Given the description of an element on the screen output the (x, y) to click on. 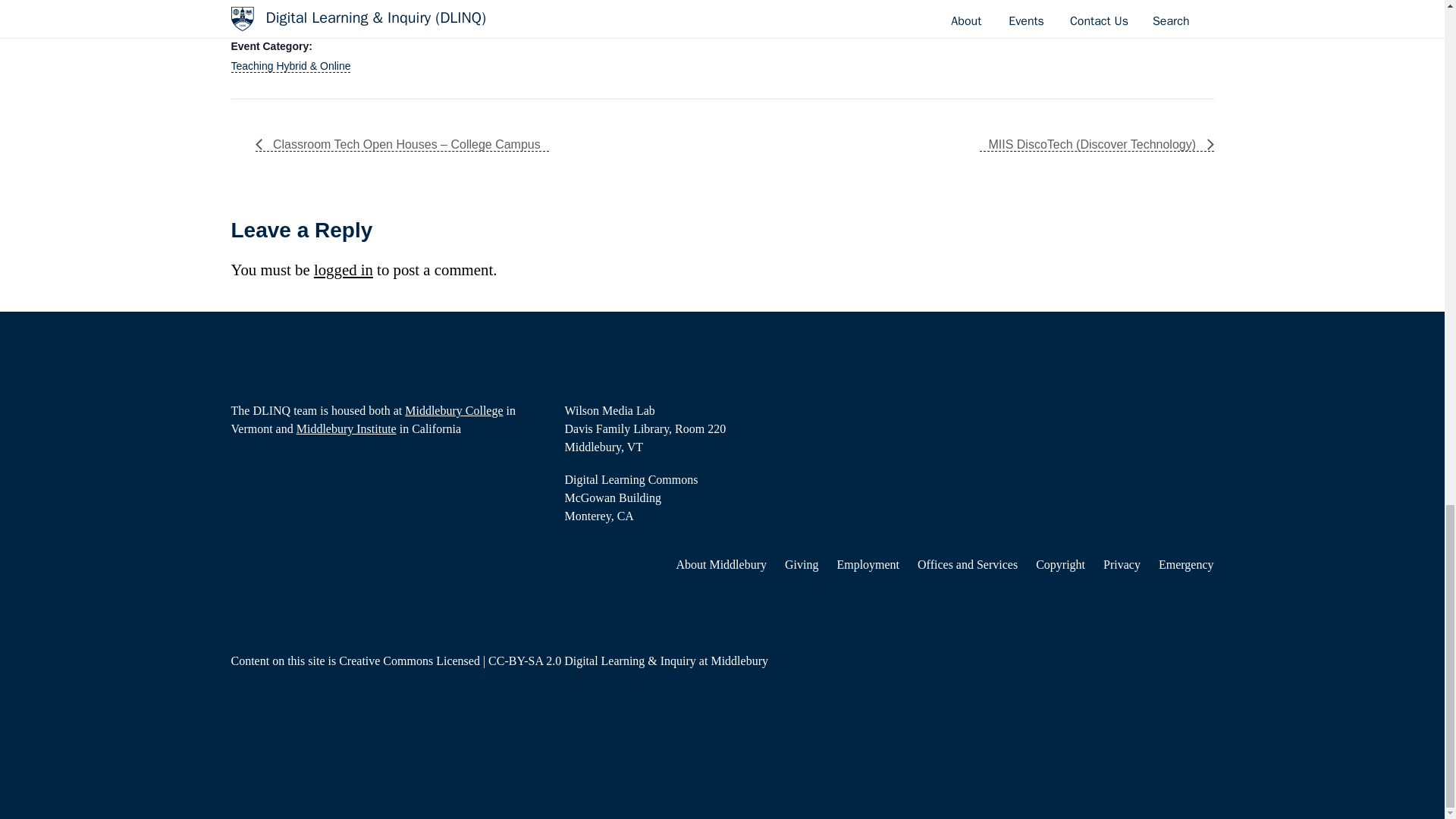
Privacy (1121, 563)
Offices and Services (967, 563)
Giving (801, 563)
logged in (343, 269)
About Middlebury (721, 563)
Copyright (1059, 563)
View Organizer Website (577, 25)
2021-11-05 (294, 17)
Middlebury Institute (346, 428)
Employment (867, 563)
Emergency (1186, 563)
Middlebury College (453, 410)
